Given the description of an element on the screen output the (x, y) to click on. 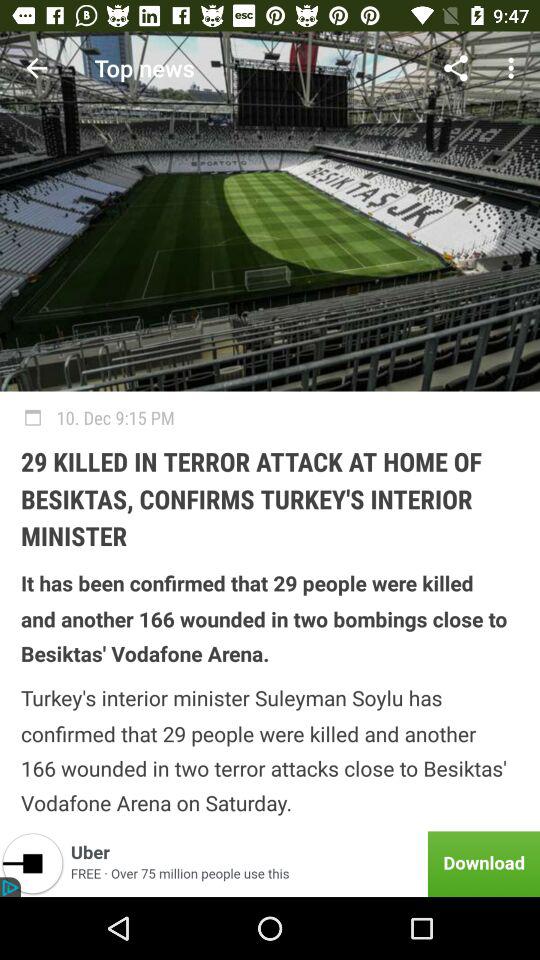
turn on the item above 10 dec 9 (513, 67)
